Given the description of an element on the screen output the (x, y) to click on. 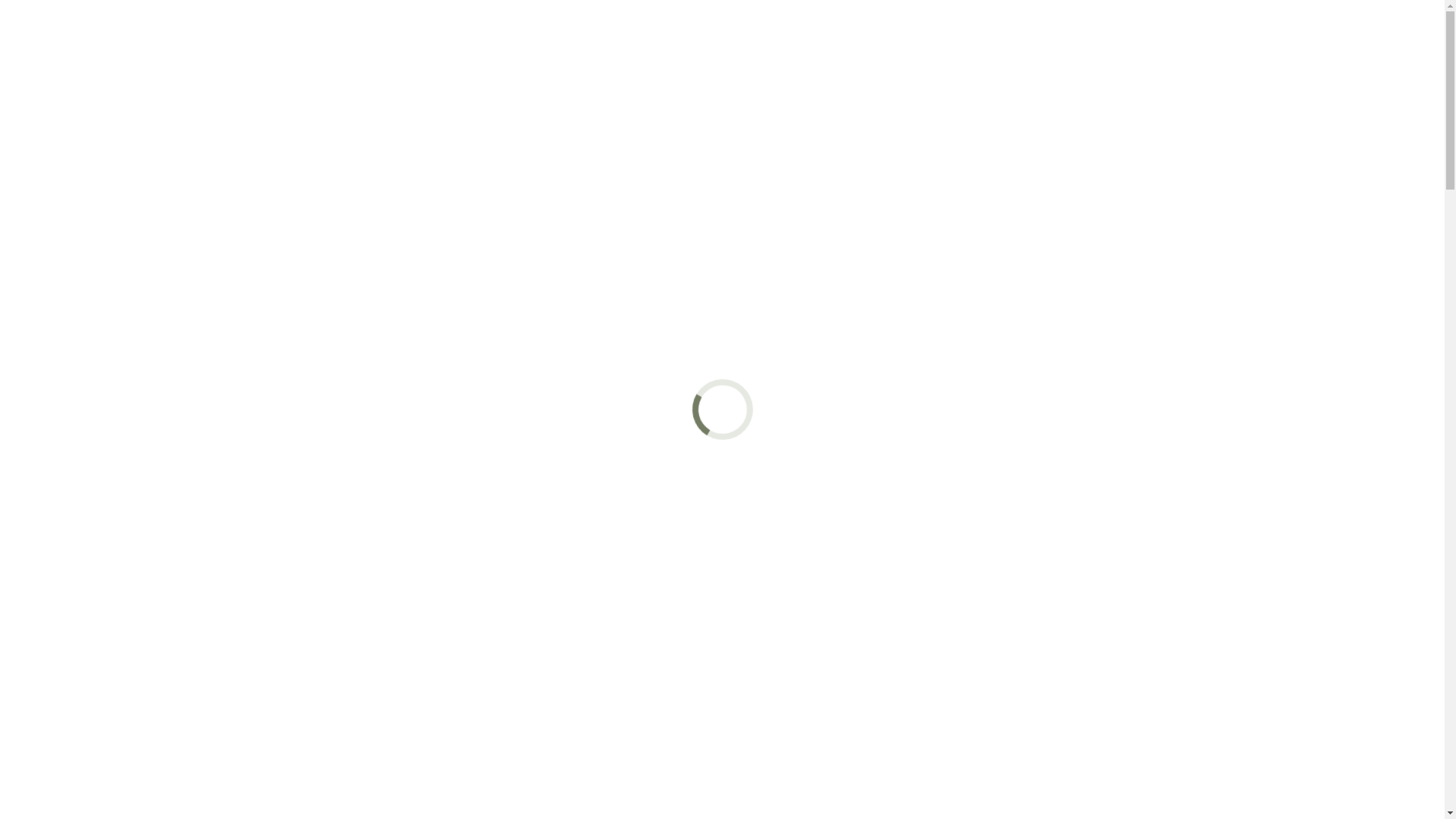
GET IN TOUCH Element type: text (1110, 33)
YOUR BARN WEDDING Element type: text (749, 33)
THE GROWWILD STORY Element type: text (355, 33)
GALLERY Element type: text (880, 33)
YOUR MARQUEE WEDDING Element type: text (553, 33)
CLIENT PORTAL Element type: text (985, 33)
